Given the description of an element on the screen output the (x, y) to click on. 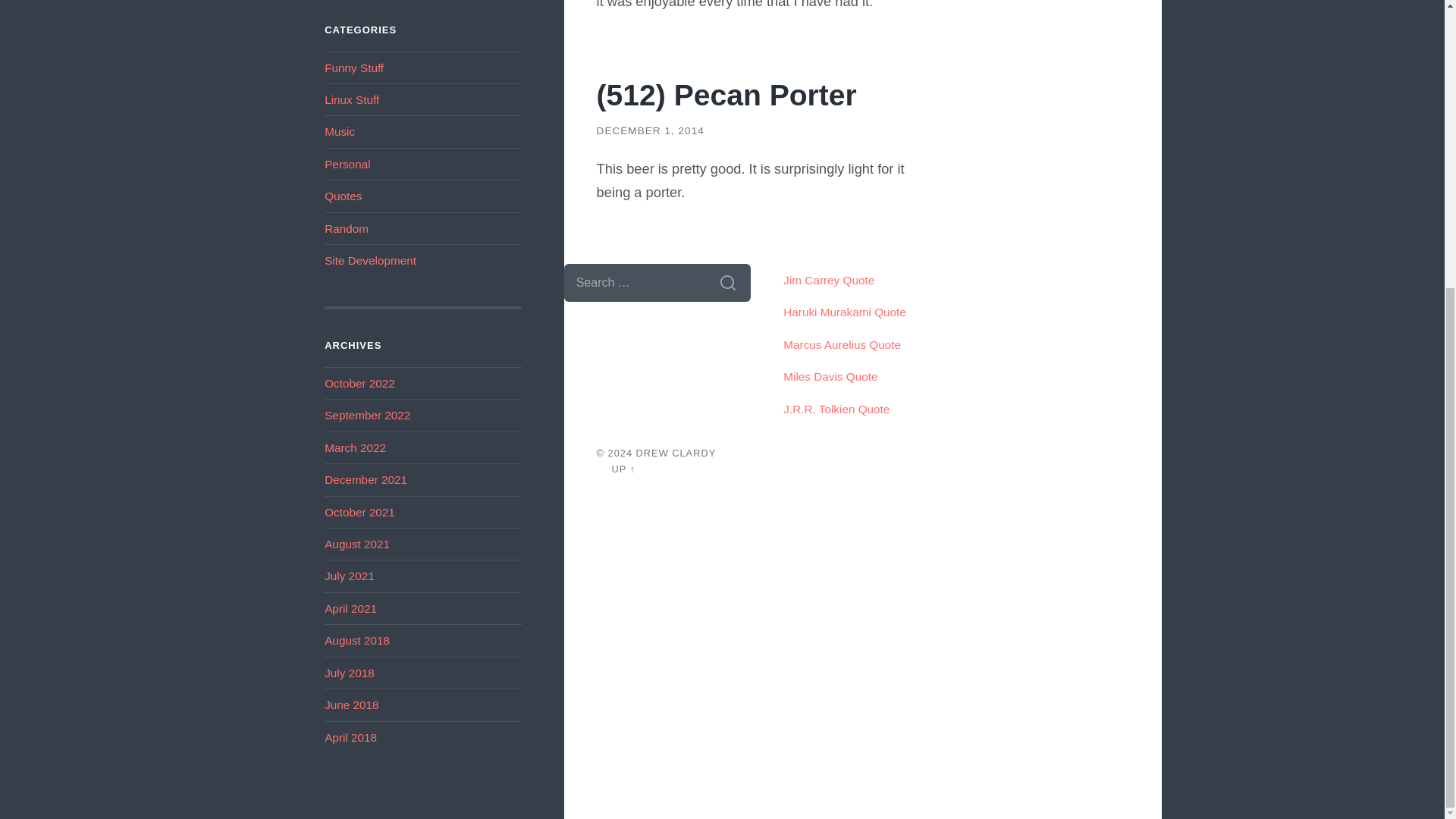
Search (727, 282)
Marcus Aurelius Quote (842, 344)
September 2022 (367, 414)
Quotes (342, 195)
Music (339, 131)
Funny Stuff (354, 67)
Search (727, 282)
June 2018 (351, 704)
April 2021 (350, 608)
Haruki Murakami Quote (844, 311)
July 2018 (349, 672)
Linux Stuff (351, 99)
December 2021 (365, 479)
Personal (346, 164)
October 2022 (359, 382)
